Given the description of an element on the screen output the (x, y) to click on. 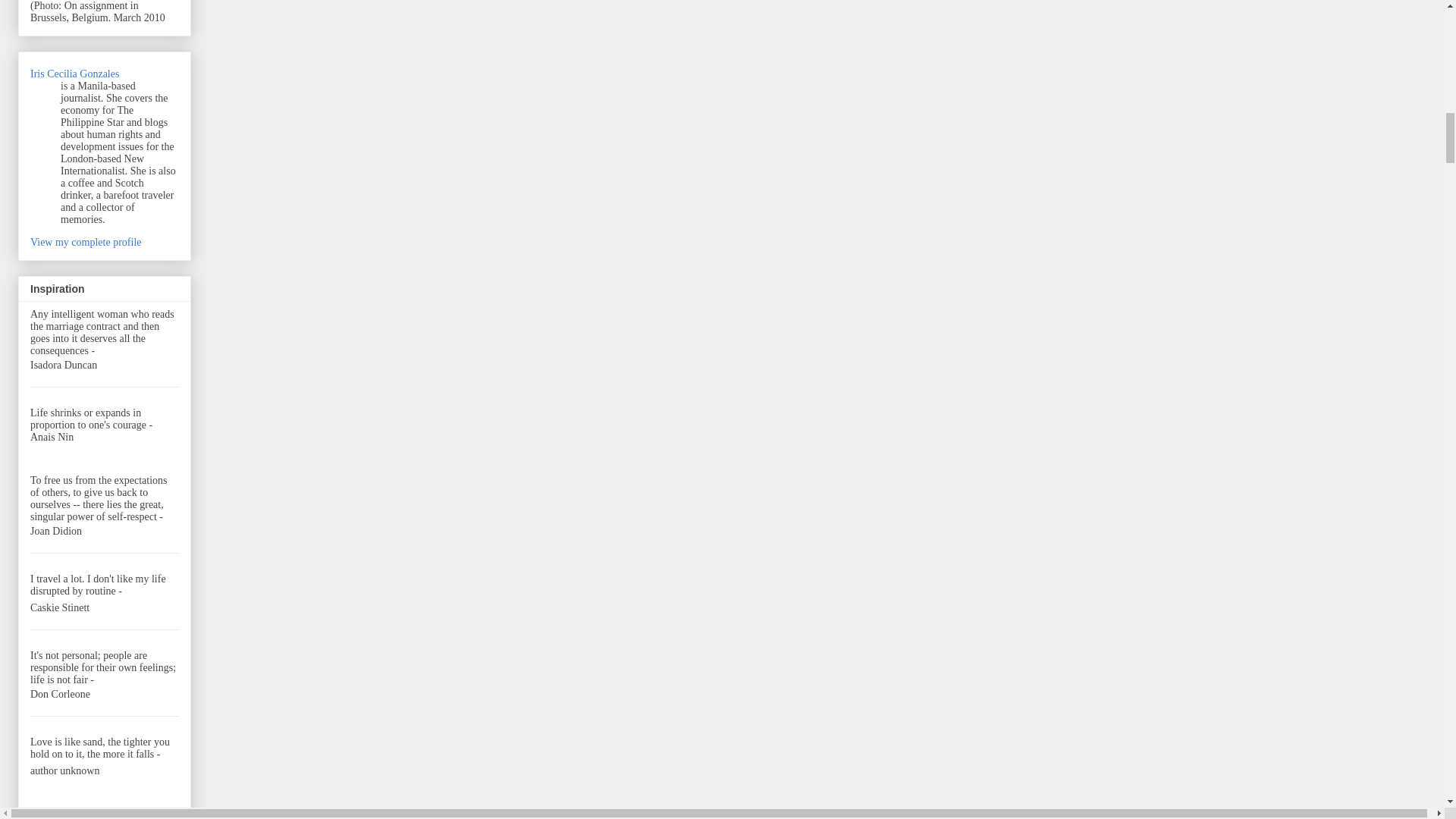
View my complete profile (85, 242)
Iris Cecilia Gonzales (74, 73)
